Given the description of an element on the screen output the (x, y) to click on. 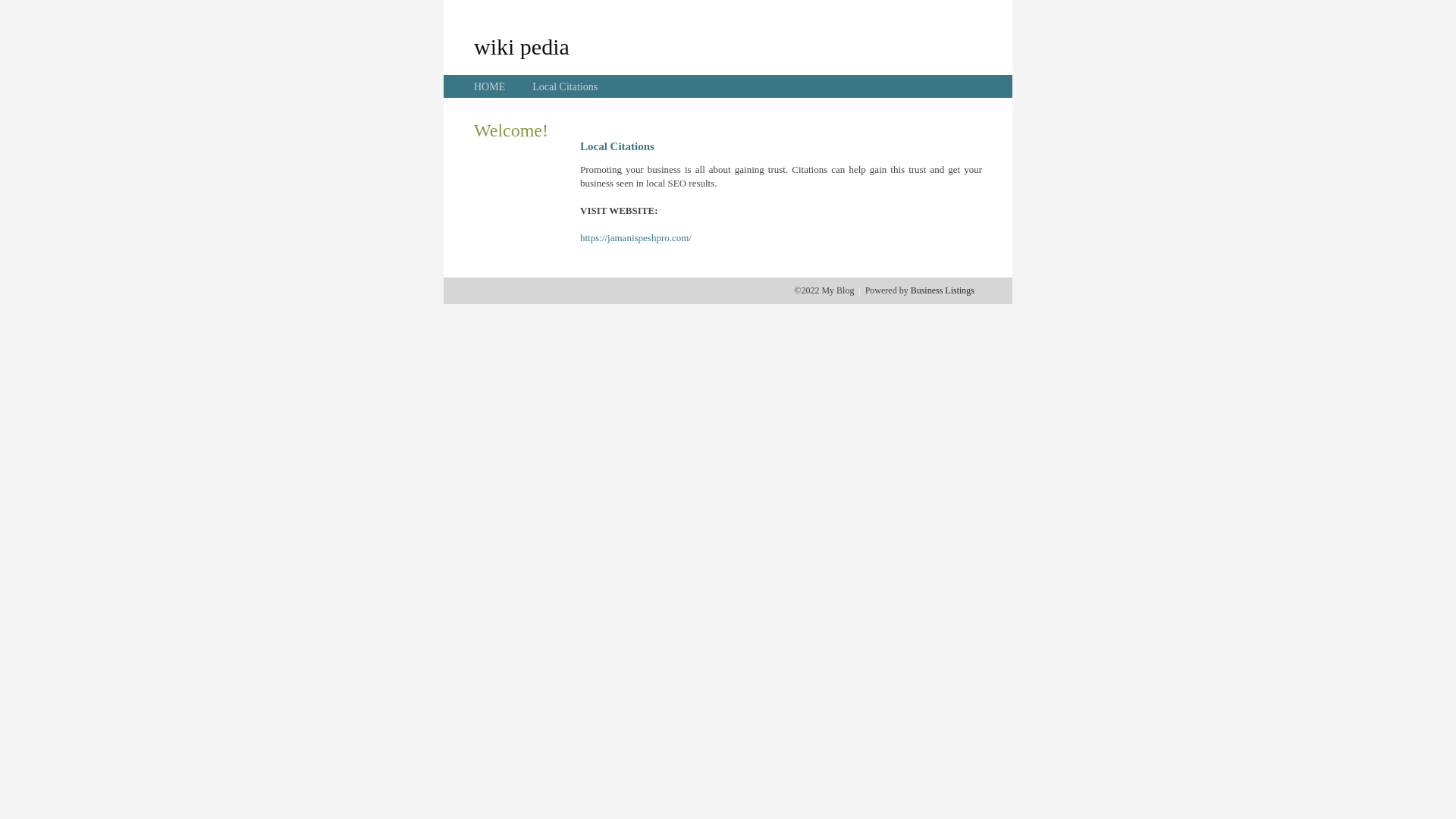
wiki pedia Element type: text (521, 46)
Business Listings Element type: text (942, 290)
Local Citations Element type: text (564, 86)
https://jamanispeshpro.com/ Element type: text (635, 237)
HOME Element type: text (489, 86)
